Given the description of an element on the screen output the (x, y) to click on. 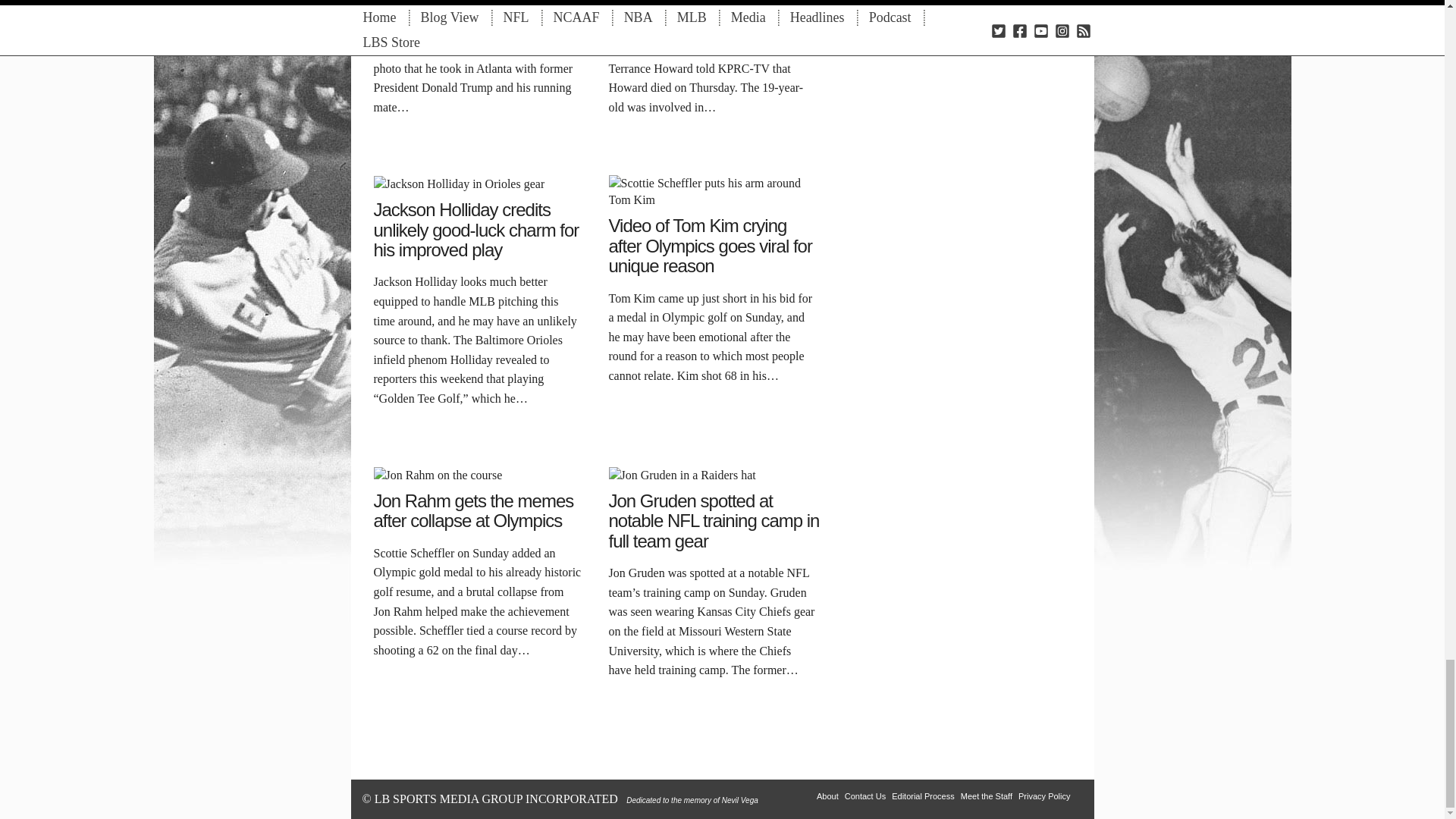
Jon Rahm gets the memes after collapse at Olympics (437, 473)
